Given the description of an element on the screen output the (x, y) to click on. 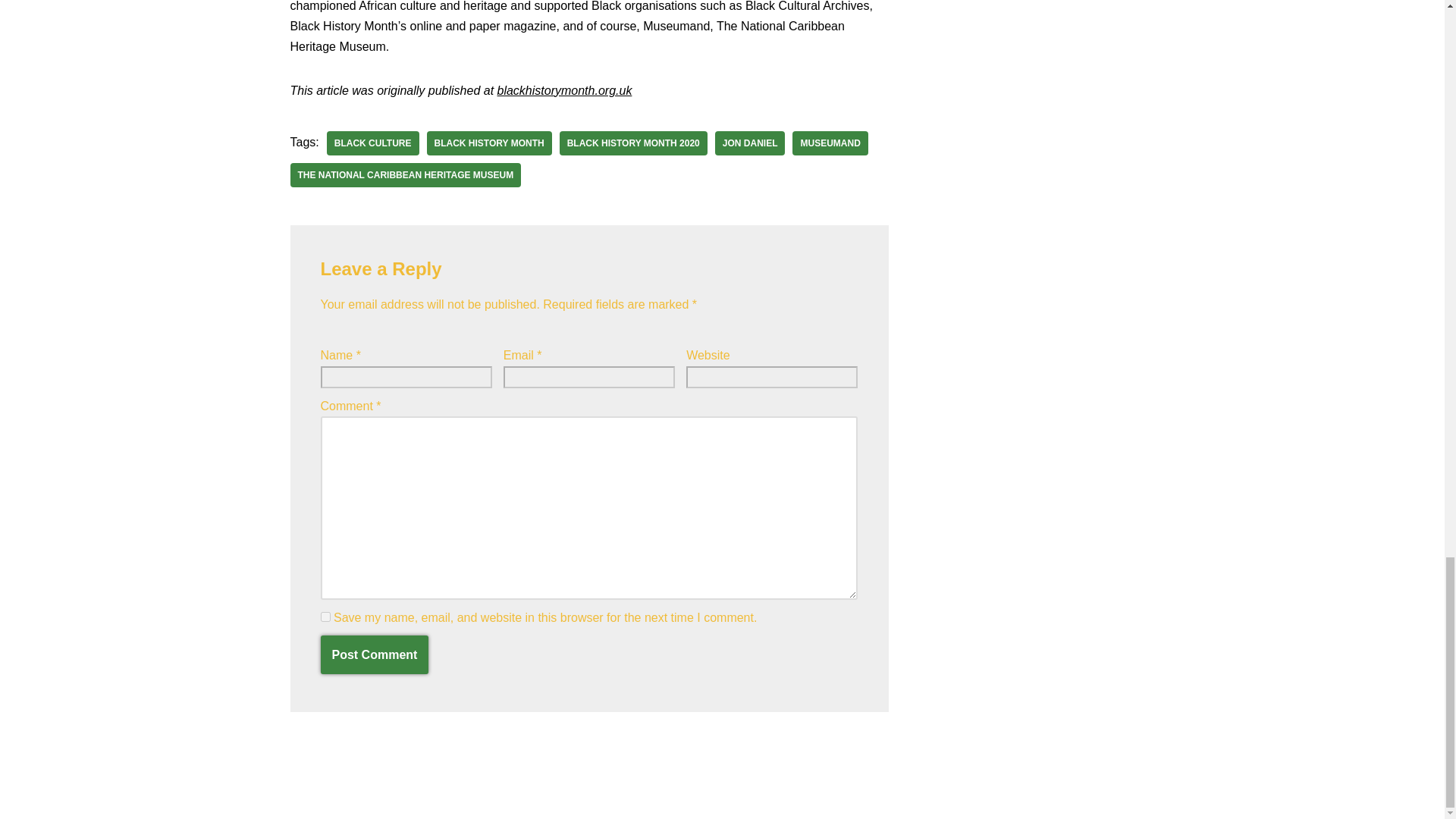
The National Caribbean Heritage Museum (405, 174)
BLACK CULTURE (372, 143)
Black History Month 2020 (633, 143)
blackhistorymonth.org.uk (564, 90)
yes (325, 616)
Black Culture (372, 143)
WordPress (146, 799)
BLACK HISTORY MONTH 2020 (633, 143)
Post Comment (374, 654)
MUSEUMAND (829, 143)
